Given the description of an element on the screen output the (x, y) to click on. 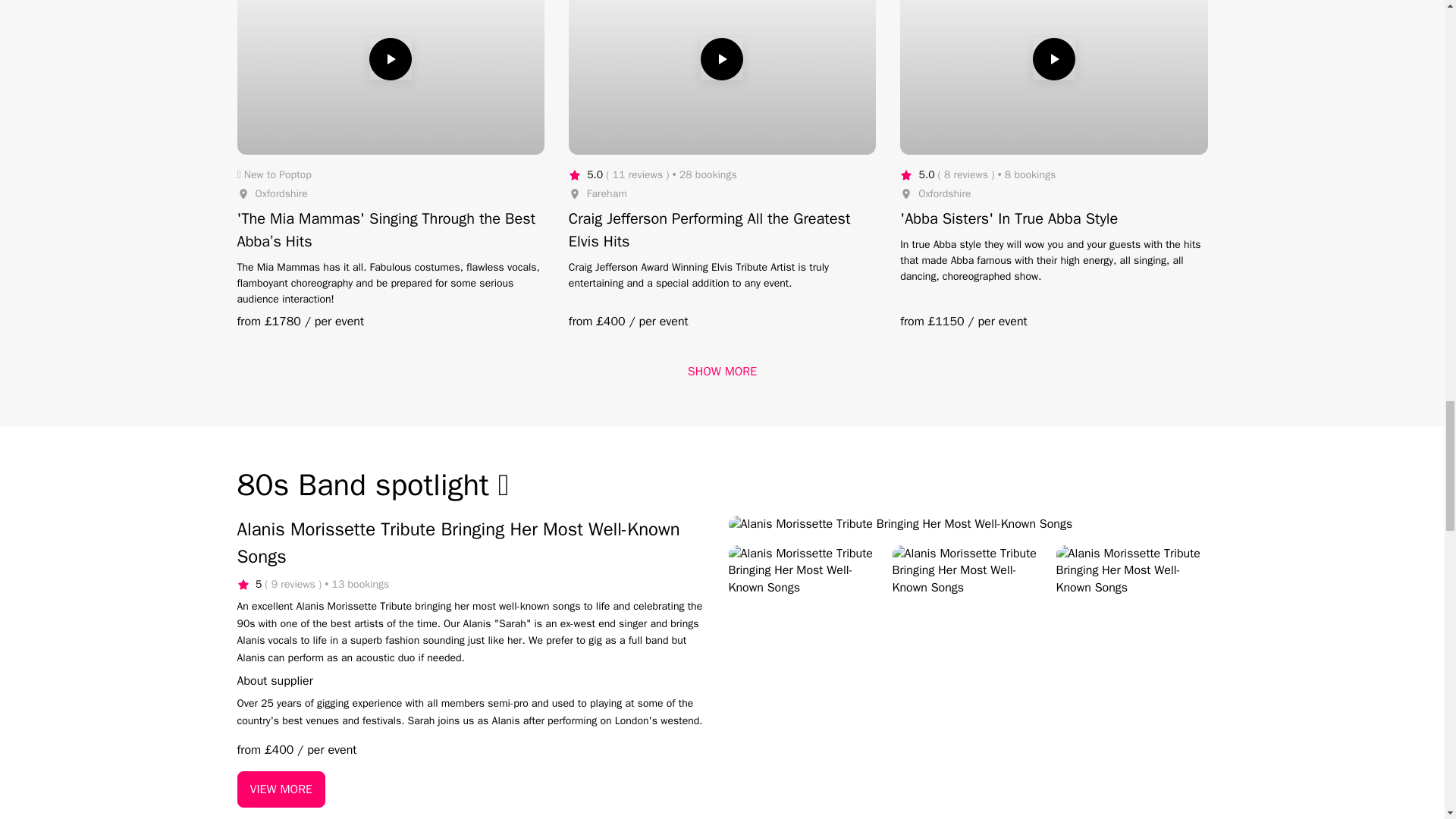
SHOW MORE (721, 370)
VIEW MORE (279, 789)
